Given the description of an element on the screen output the (x, y) to click on. 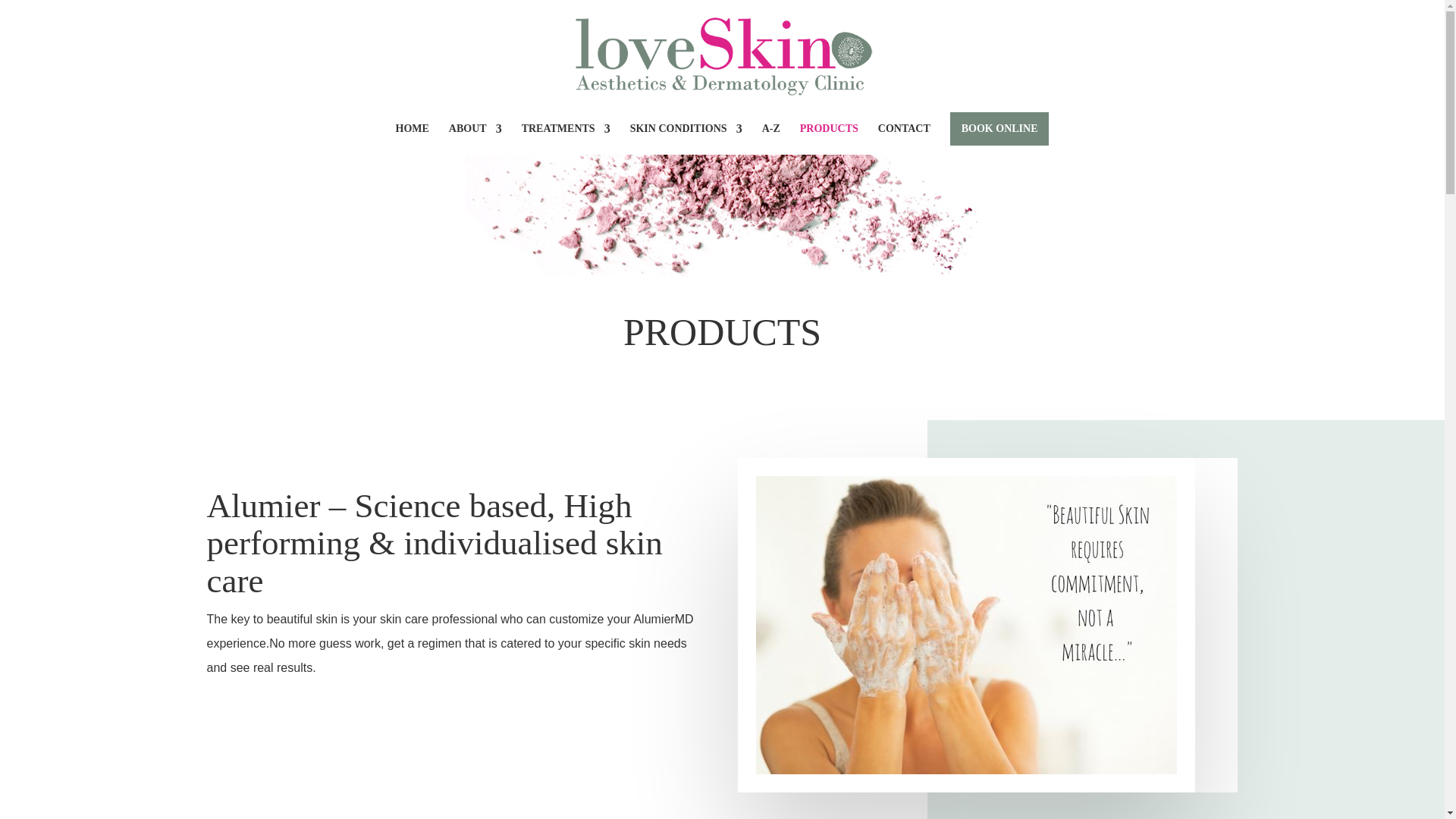
BOOK ONLINE (999, 128)
A-Z (770, 138)
CONTACT (903, 138)
ABOUT (475, 138)
TREATMENTS (565, 138)
PRODUCTS (829, 138)
HOME (412, 138)
SKIN CONDITIONS (686, 138)
Beautiful Skin Requires Commitment (965, 624)
